Given the description of an element on the screen output the (x, y) to click on. 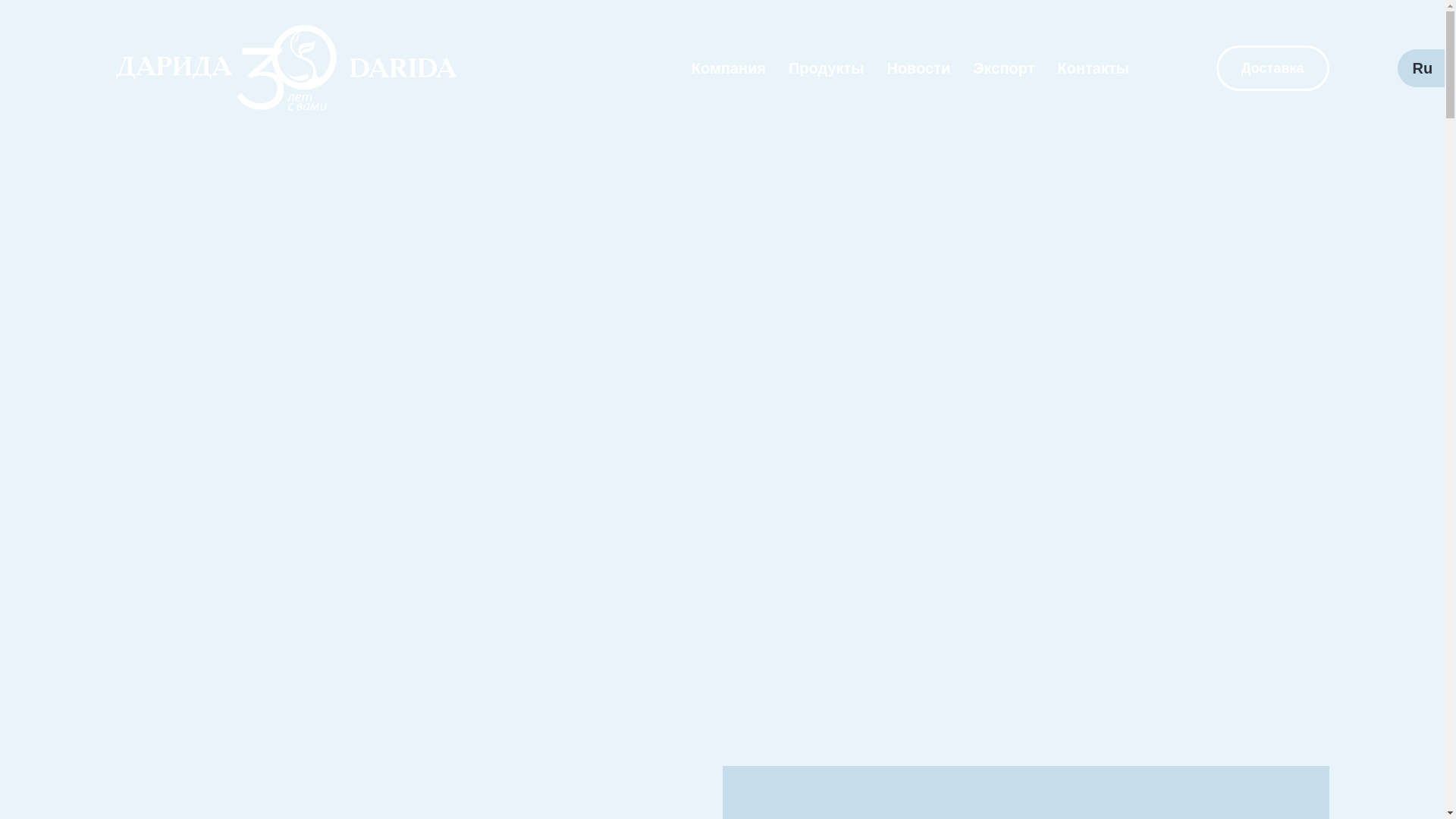
Ru Element type: text (1422, 67)
